Given the description of an element on the screen output the (x, y) to click on. 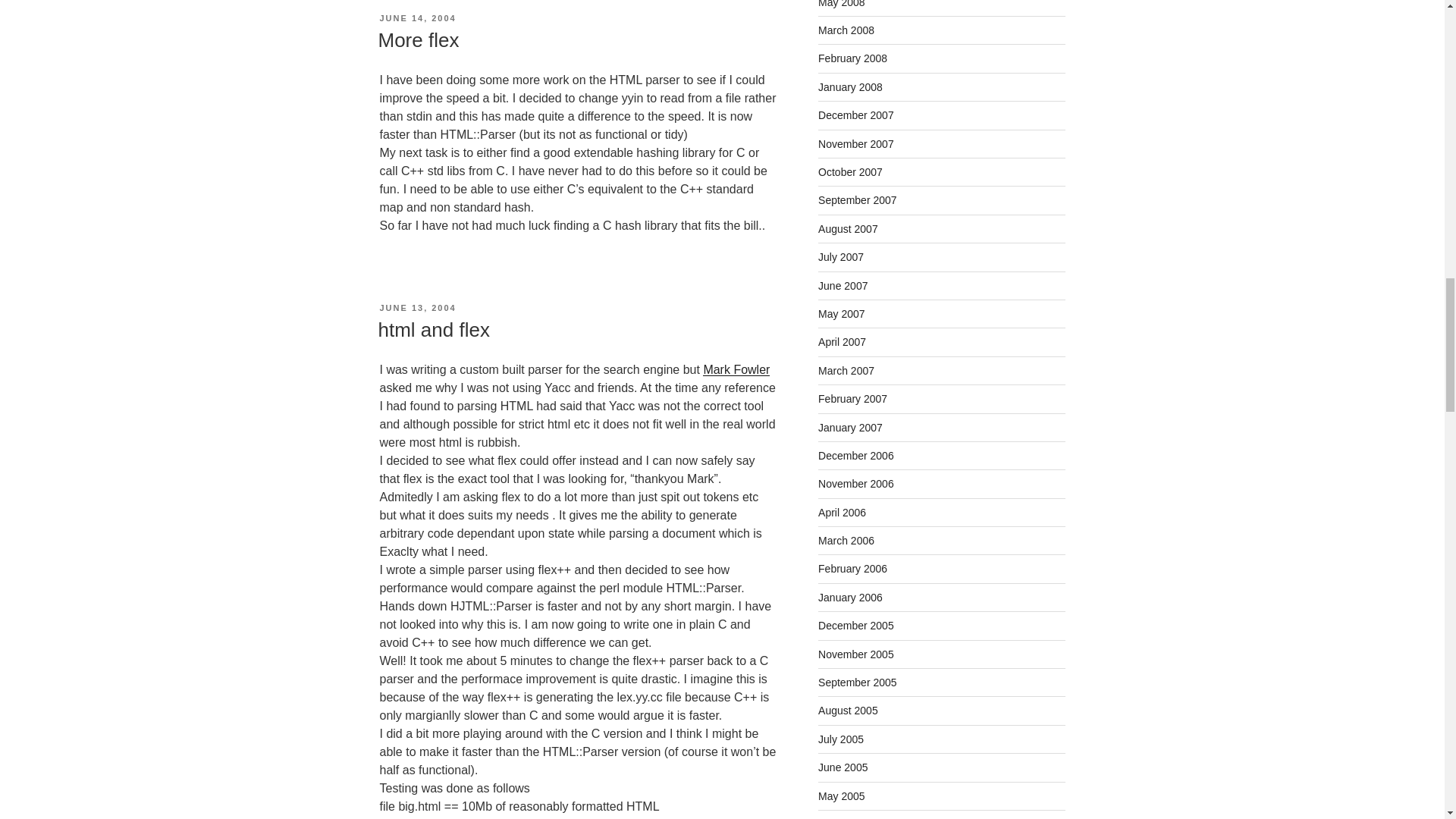
JUNE 14, 2004 (416, 17)
JUNE 13, 2004 (416, 307)
Mark Fowler (736, 369)
More flex (417, 39)
html and flex (433, 329)
